Given the description of an element on the screen output the (x, y) to click on. 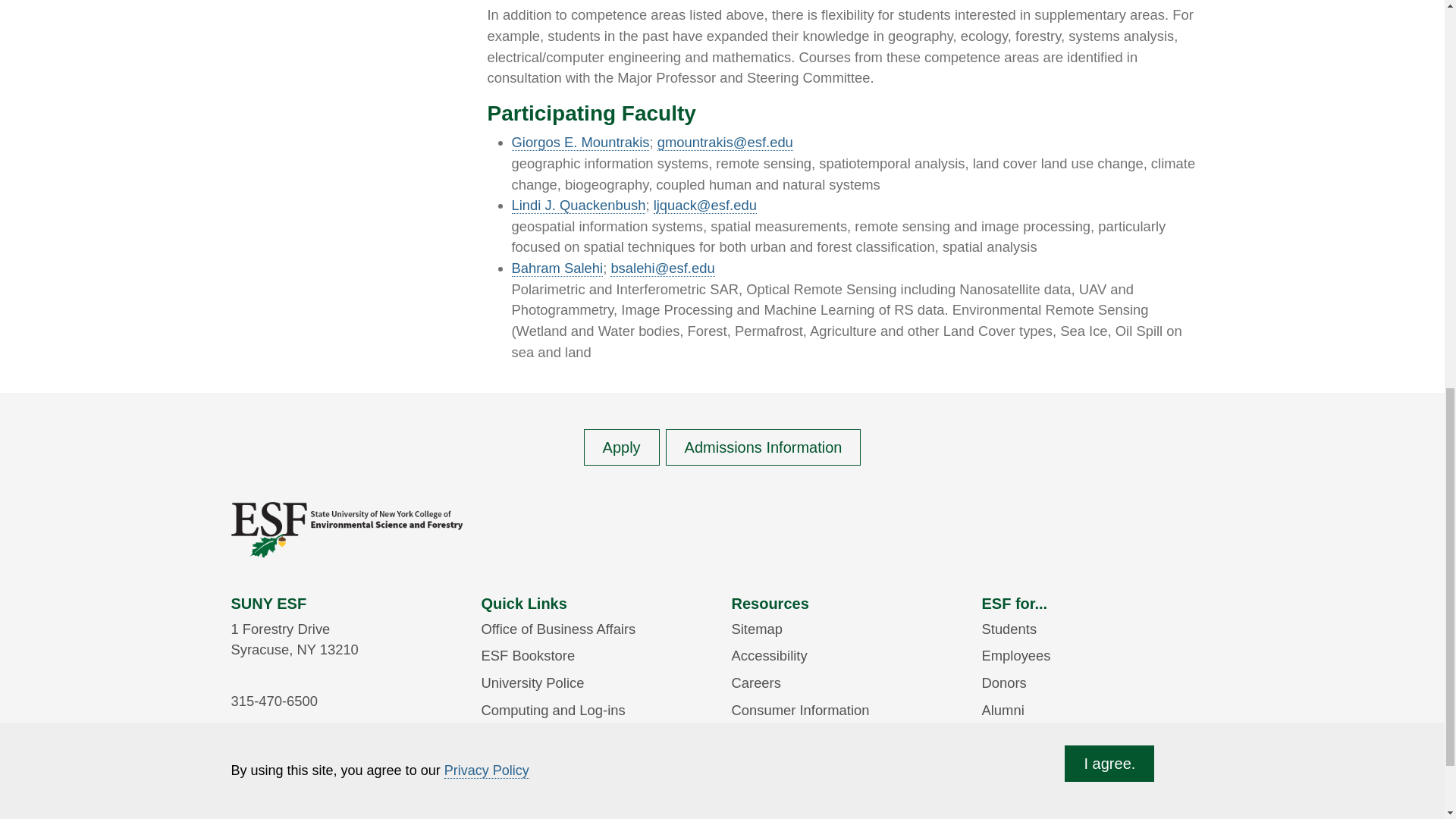
suny.esf on Instagram (251, 812)
sunyesf on Facebook (282, 812)
sunyesf on LinkedIn (342, 812)
